Given the description of an element on the screen output the (x, y) to click on. 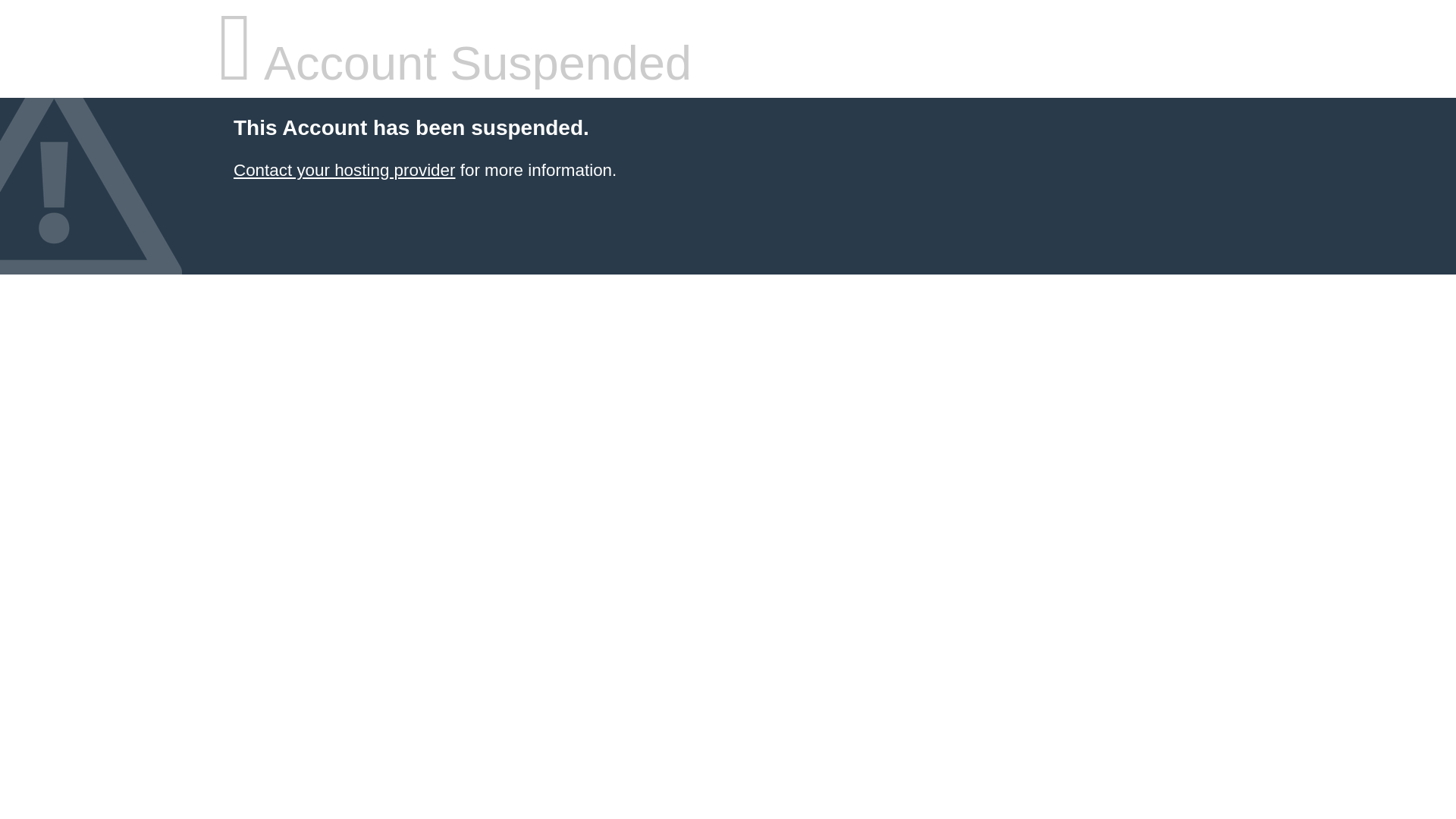
Contact your hosting provider (343, 169)
